Given the description of an element on the screen output the (x, y) to click on. 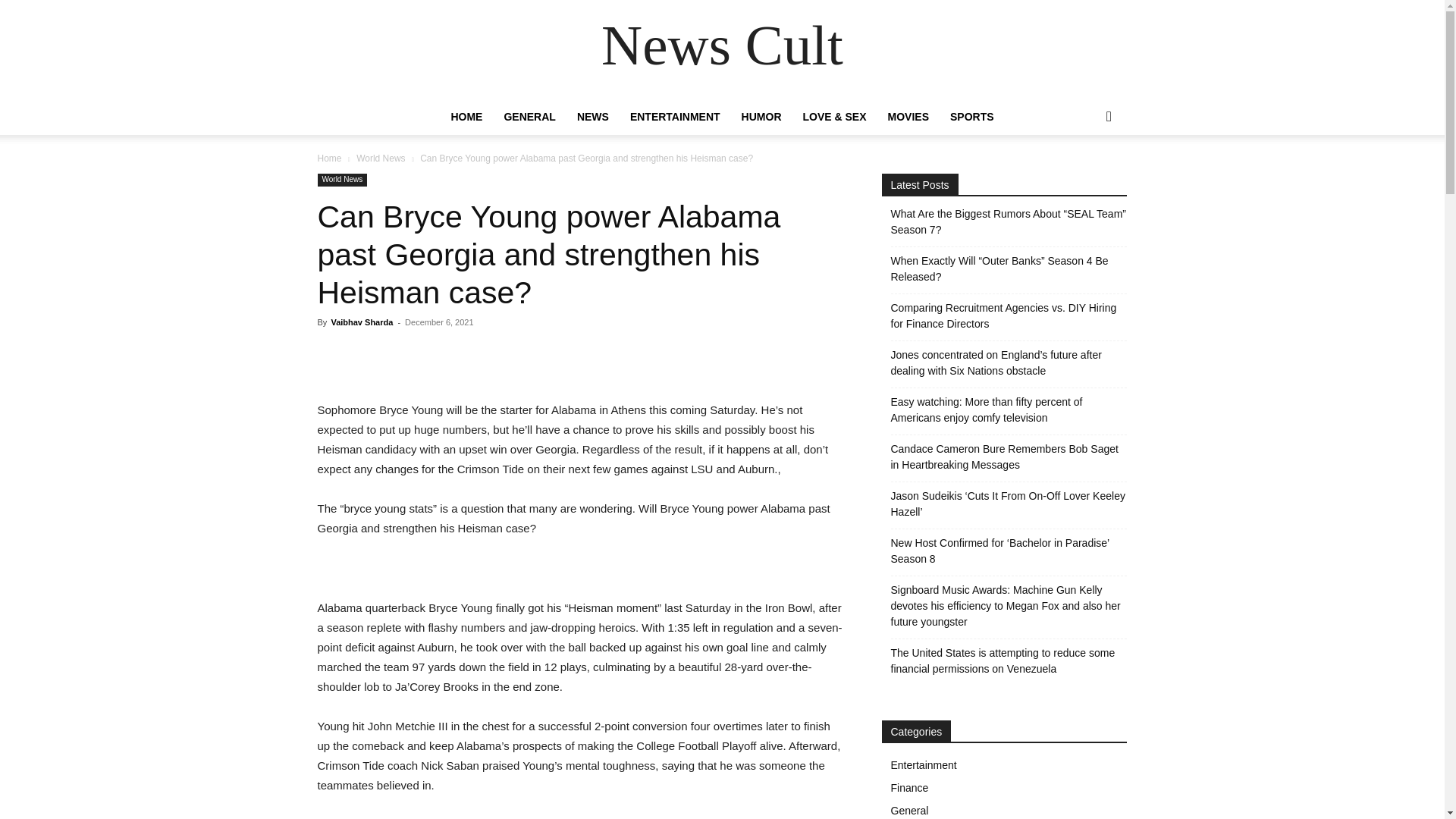
MOVIES (908, 116)
Home (328, 158)
HOME (466, 116)
View all posts in World News (380, 158)
HUMOR (761, 116)
World News (341, 179)
Search (1085, 177)
GENERAL (529, 116)
Vaibhav Sharda (361, 321)
NEWS (593, 116)
